Given the description of an element on the screen output the (x, y) to click on. 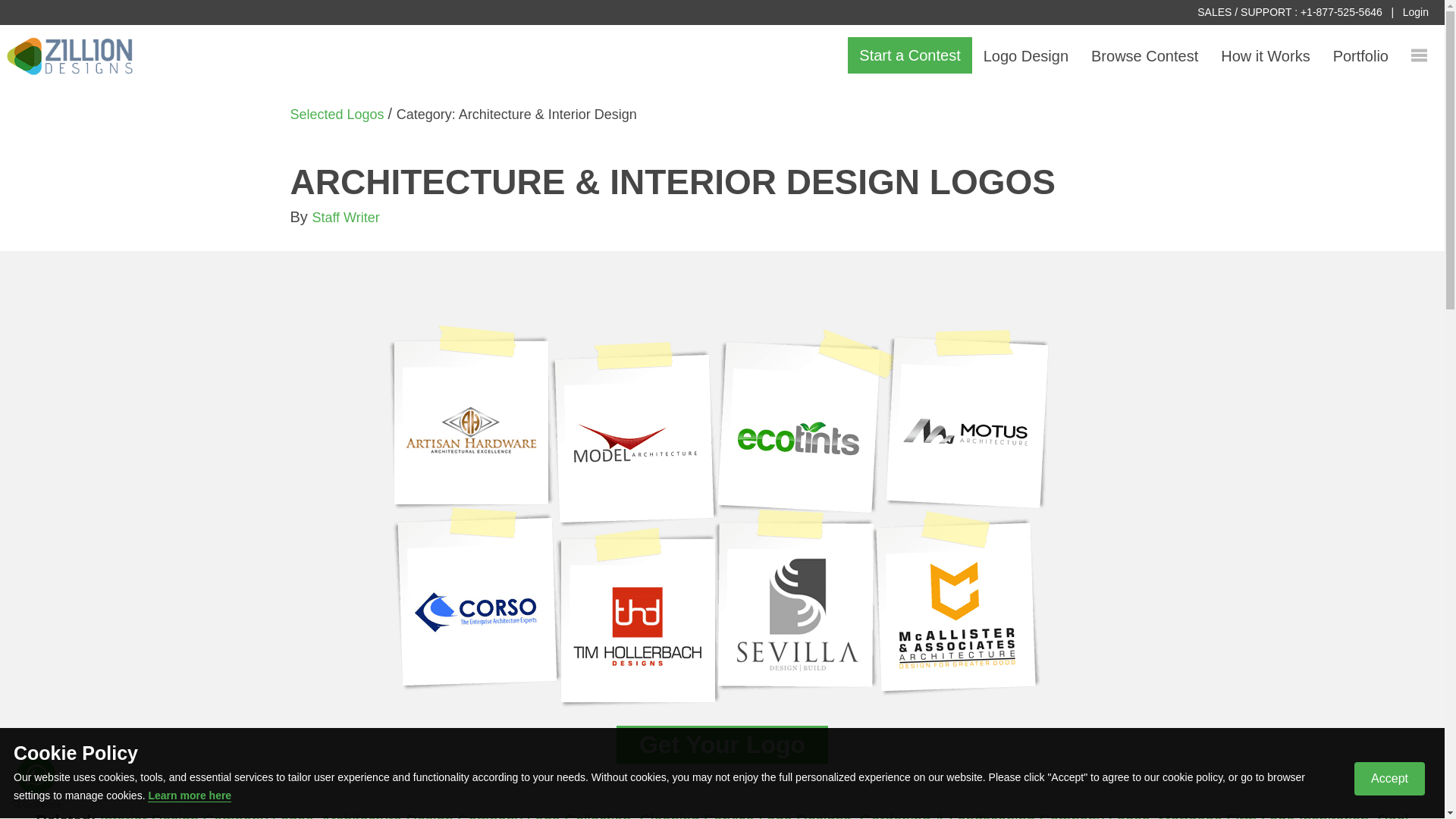
Mortgage Firm Logo Inspiration (1262, 815)
Architecture Design Company Logo Collection (475, 815)
Start a Contest (909, 55)
Logo Design (1026, 56)
logo (69, 56)
Staff Writer (344, 217)
How it Works (1264, 56)
Cleaning Service Logo Designs (745, 815)
Portfolio (1360, 56)
Browse Contest (1144, 56)
